Given the description of an element on the screen output the (x, y) to click on. 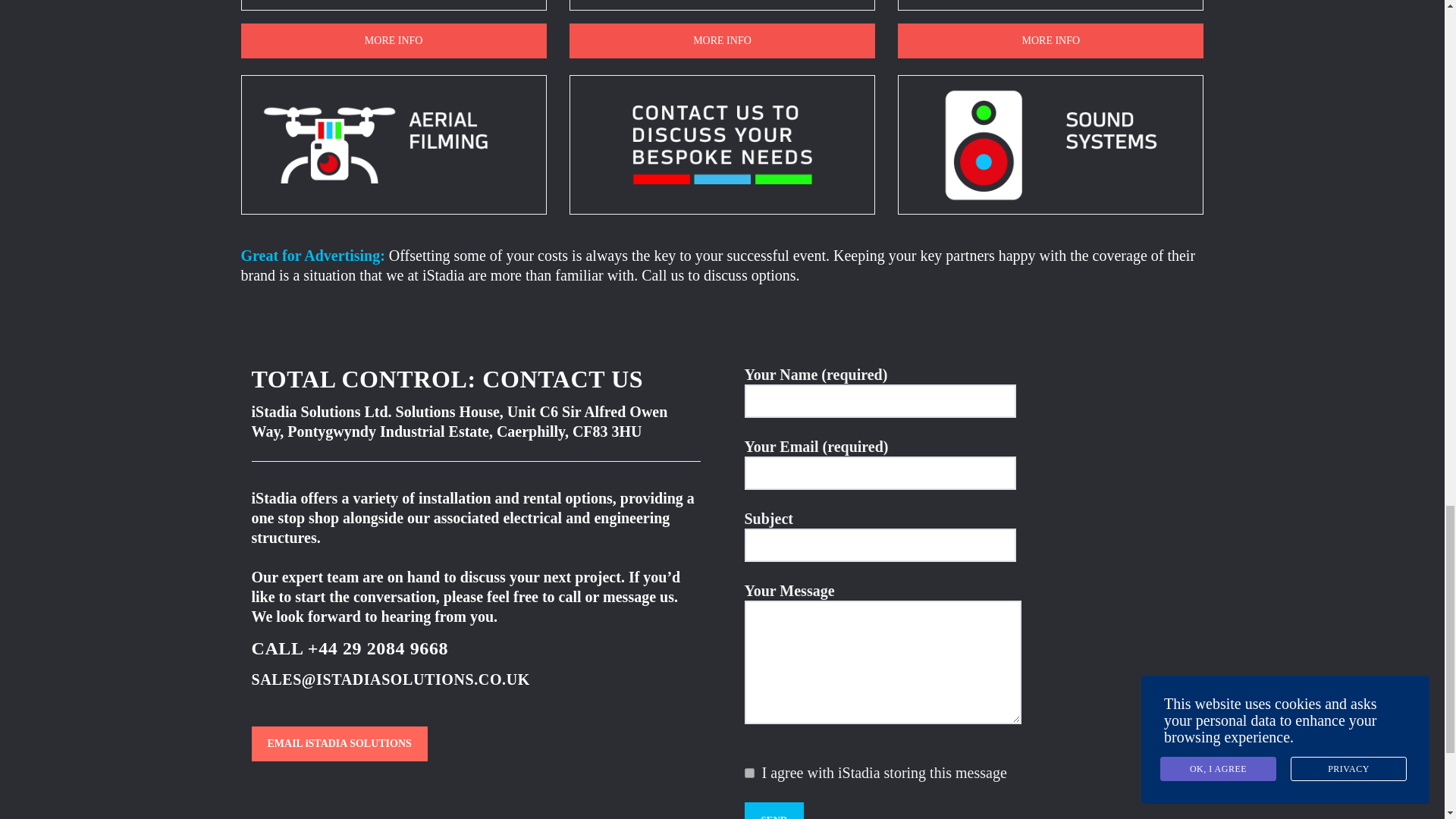
MORE INFO (394, 40)
1 (749, 773)
MORE INFO (722, 40)
